Given the description of an element on the screen output the (x, y) to click on. 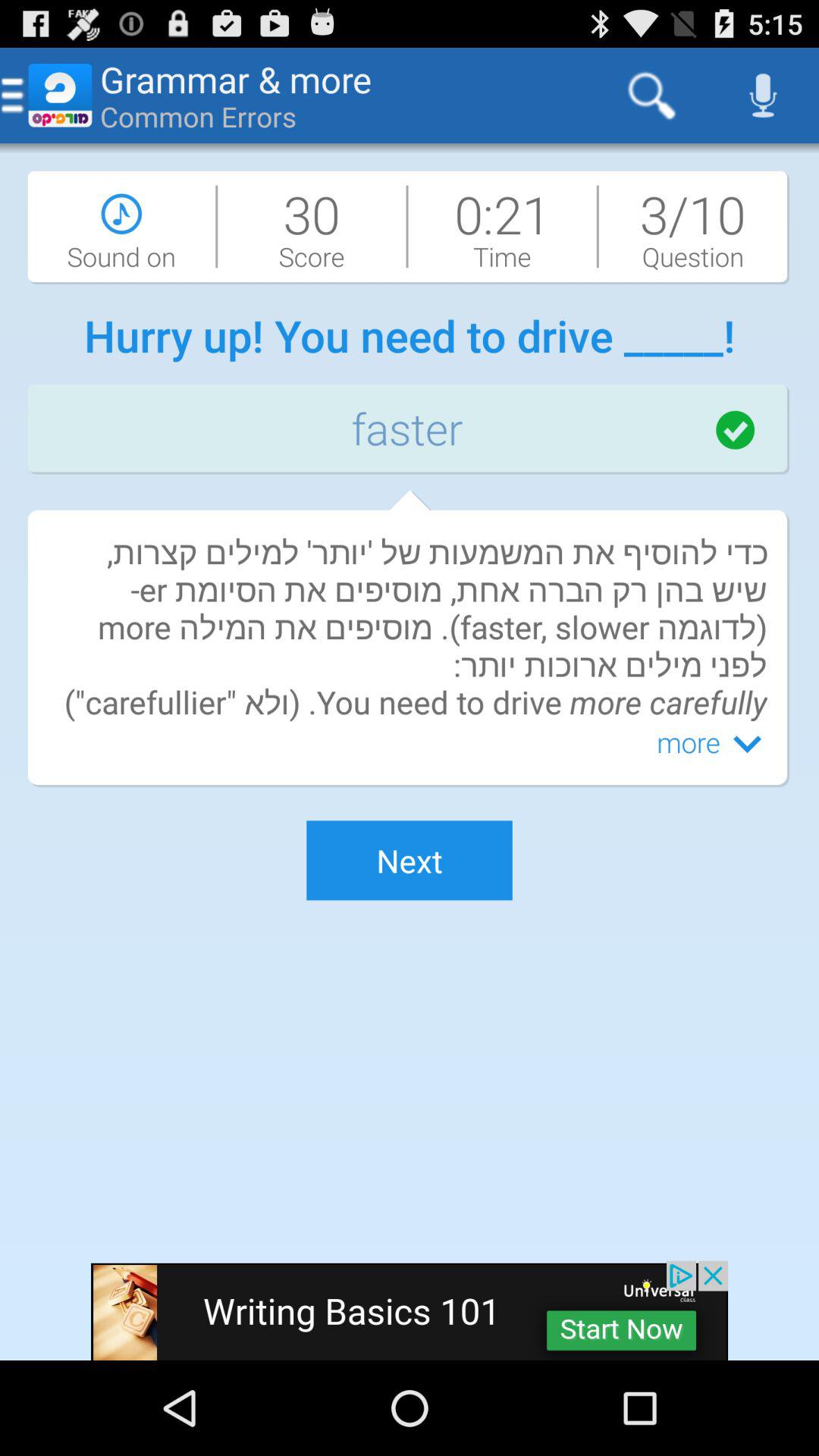
advertisement (409, 1310)
